Given the description of an element on the screen output the (x, y) to click on. 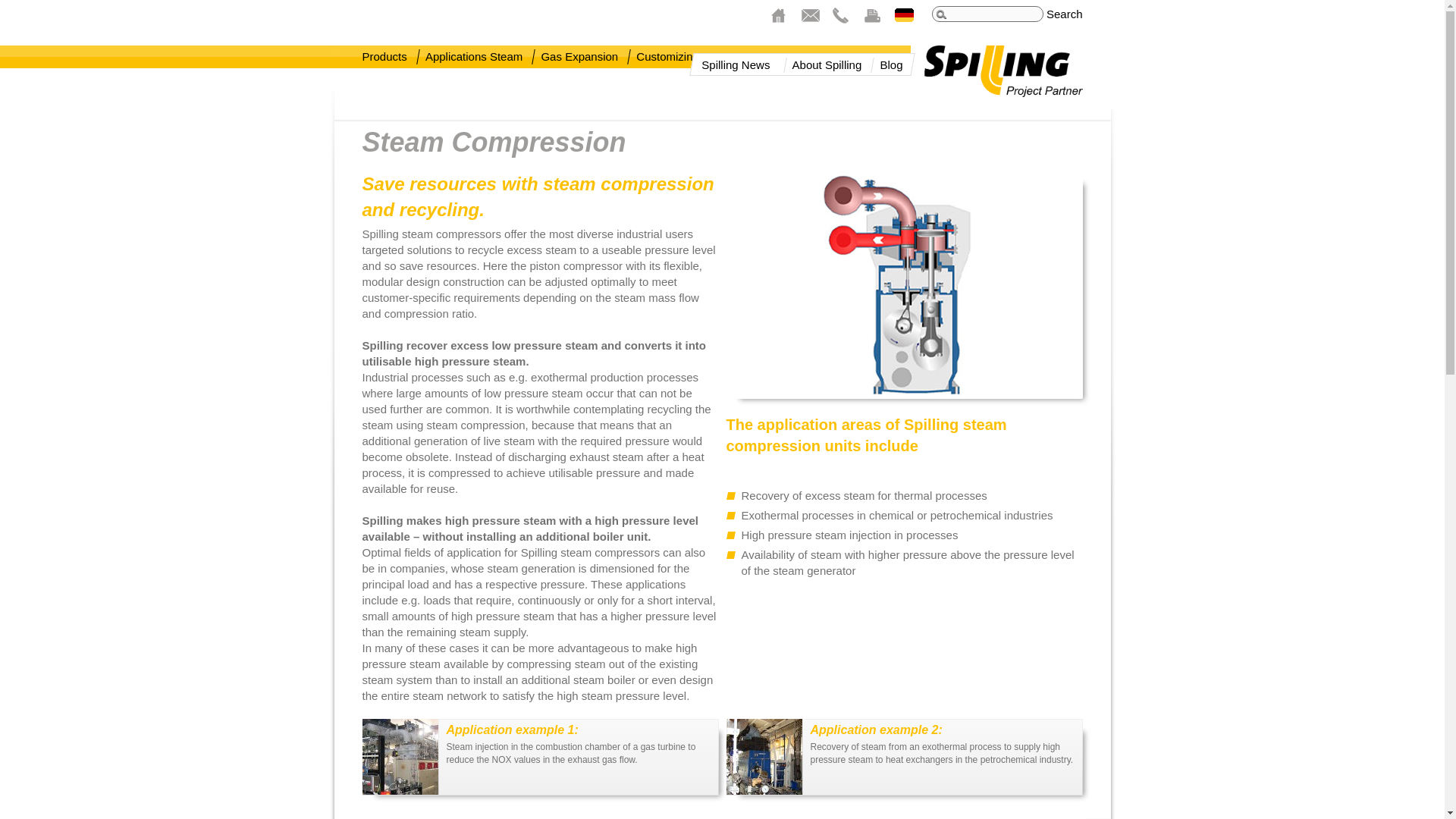
Applications Steam (473, 56)
Gas Expansion (578, 56)
About Spilling (826, 65)
Products (384, 56)
contact (813, 15)
home (784, 15)
Spilling steam compression unit (904, 284)
steam compressor unit for petrochemical industry (400, 756)
Spilling News (735, 65)
Blog (890, 65)
